Given the description of an element on the screen output the (x, y) to click on. 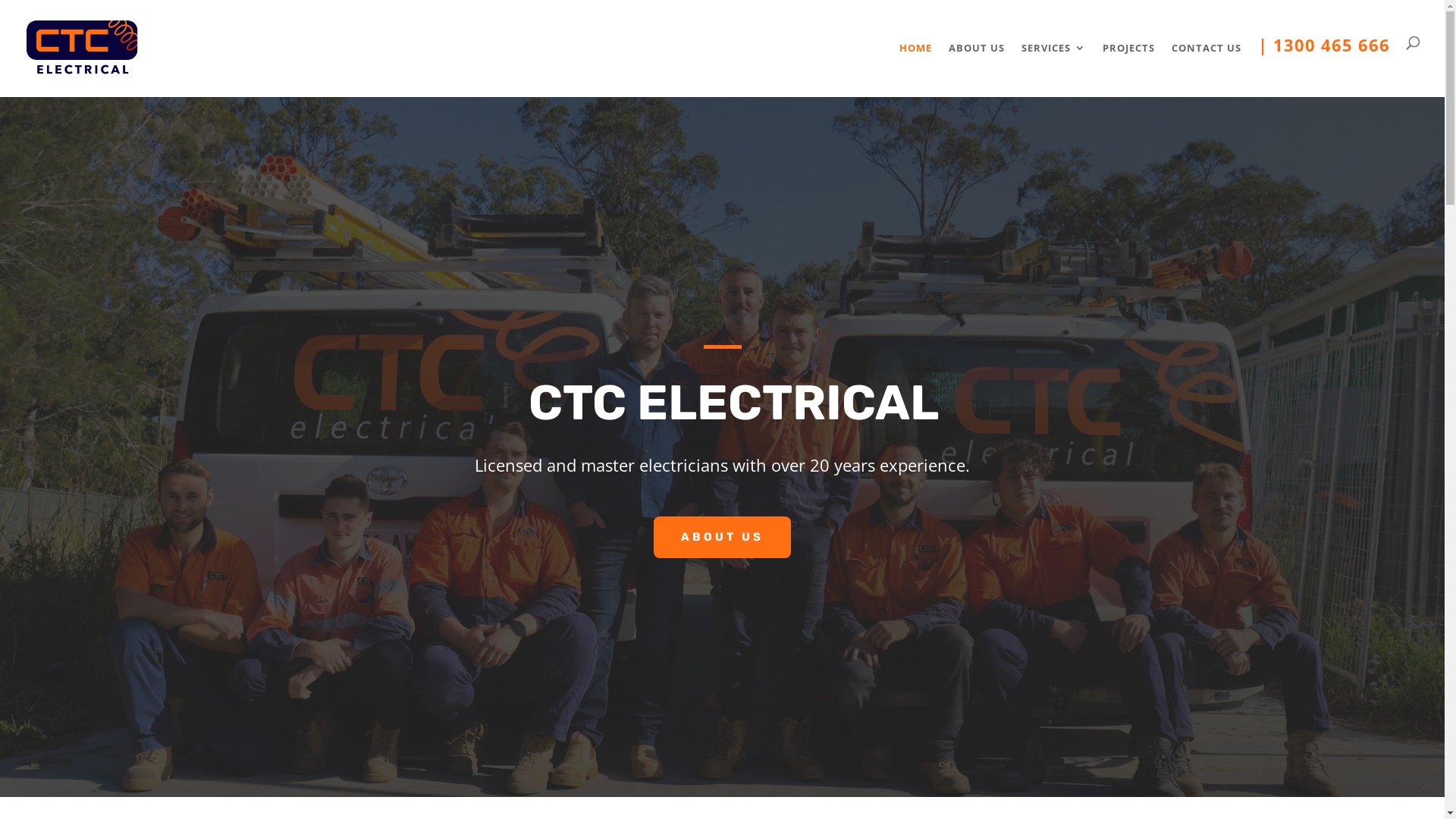
CONTACT US Element type: text (1206, 65)
HOME Element type: text (915, 65)
ABOUT US Element type: text (721, 537)
PROJECTS Element type: text (1128, 65)
SERVICES Element type: text (1053, 65)
ABOUT US Element type: text (976, 65)
| 1300 465 666 Element type: text (1324, 66)
